Given the description of an element on the screen output the (x, y) to click on. 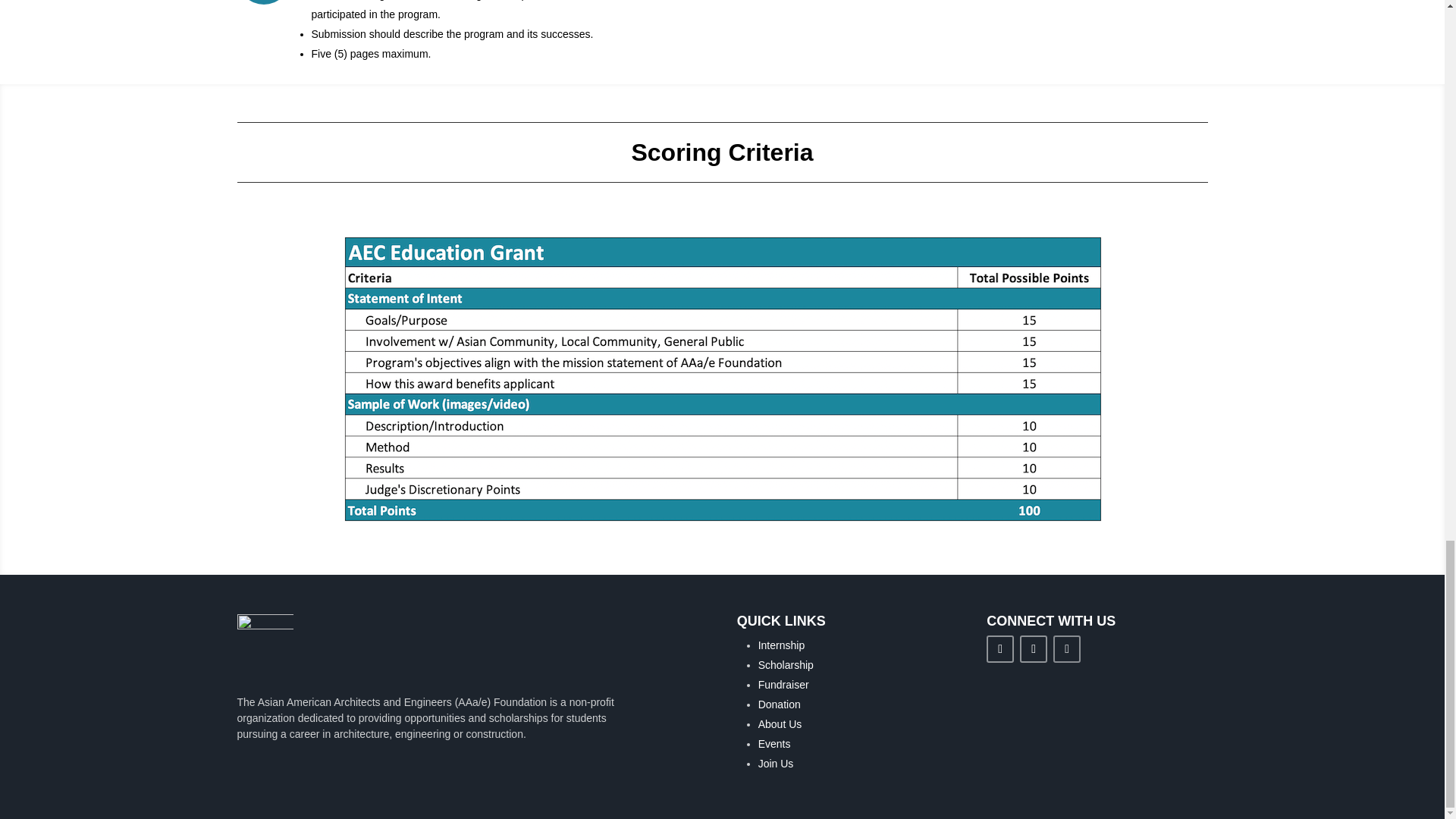
Internship (781, 645)
Donation (779, 704)
Join Us (775, 763)
Scholarship (785, 664)
Follow on Youtube (1066, 648)
Events (774, 743)
About Us (780, 724)
Follow on LinkedIn (1000, 648)
Fundraiser (783, 684)
Follow on Instagram (1033, 648)
